Given the description of an element on the screen output the (x, y) to click on. 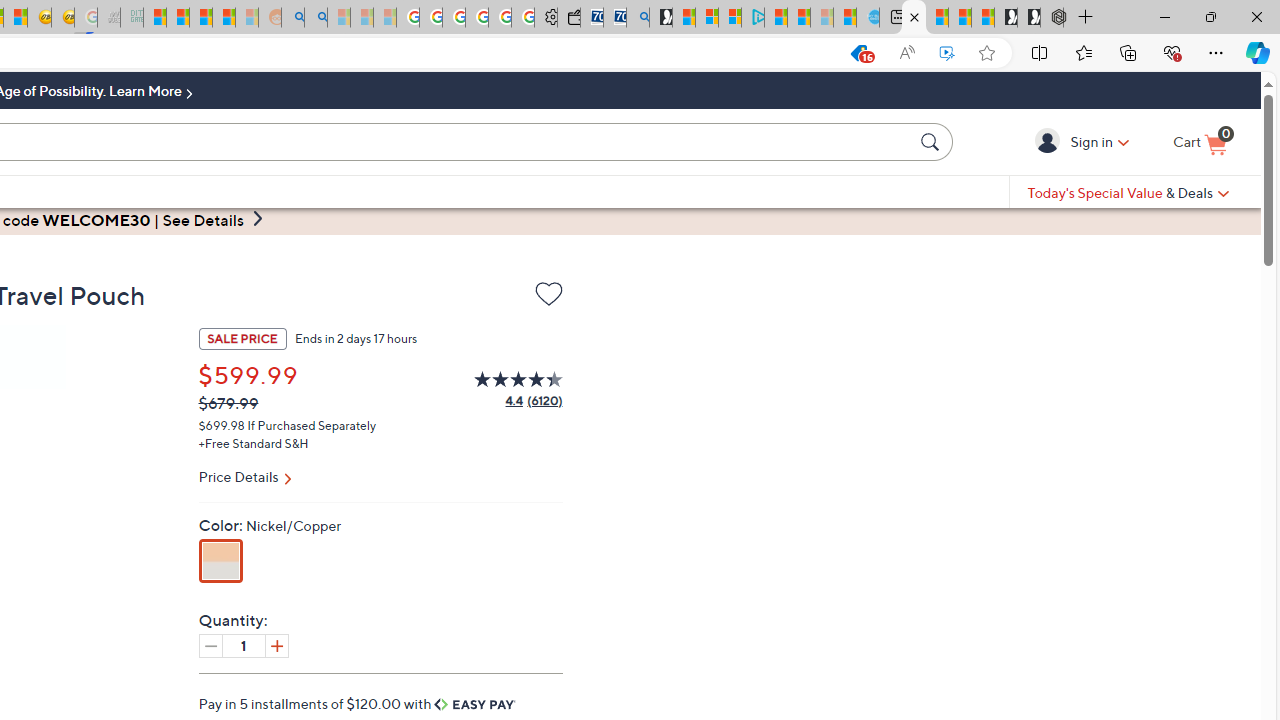
You have the best price! (858, 53)
